Given the description of an element on the screen output the (x, y) to click on. 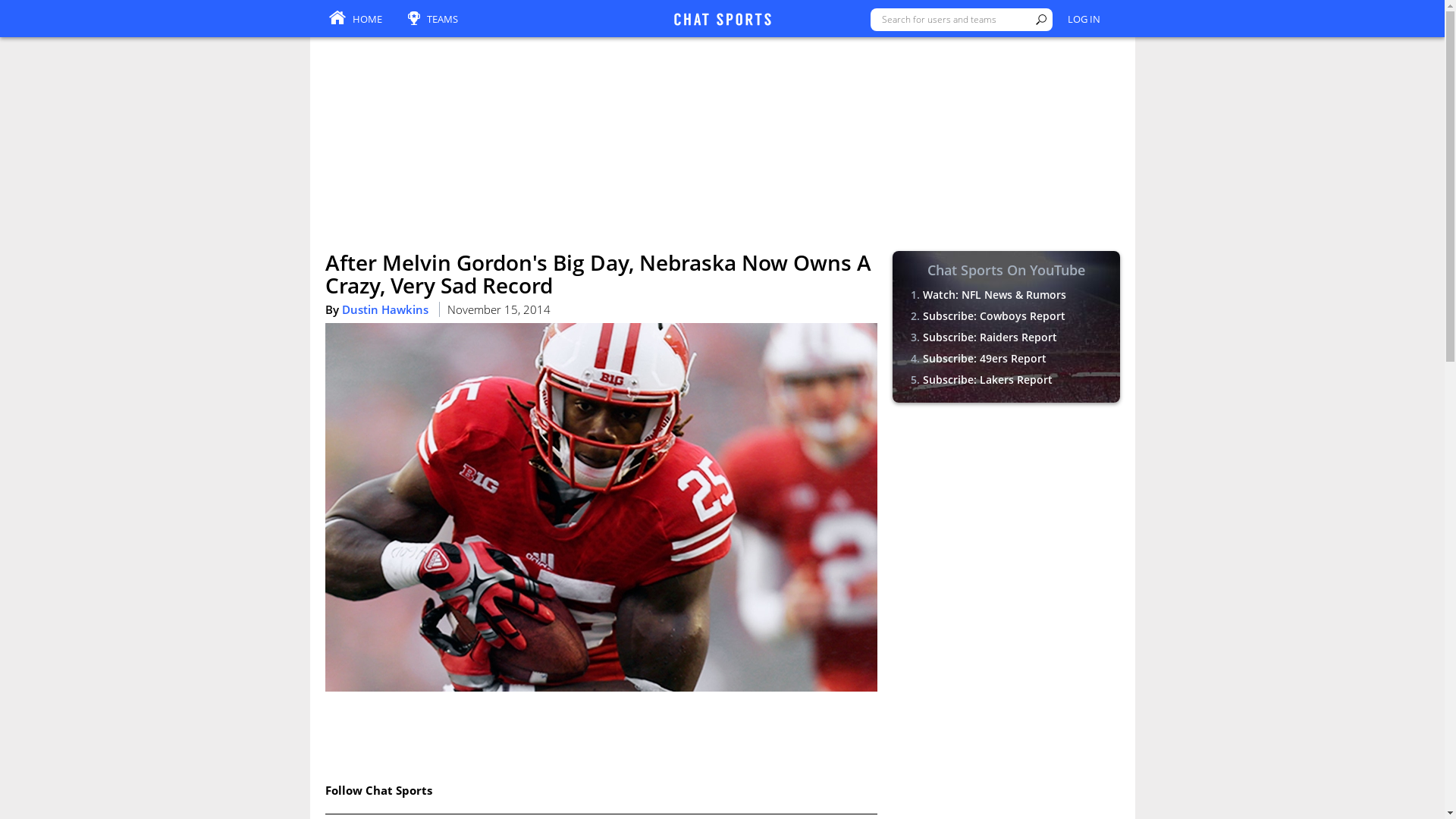
3rd party ad content (1005, 512)
Subscribe: Cowboys Report (992, 315)
sovrn-ad (721, 785)
Dustin Hawkins (384, 309)
HOME (355, 19)
Subscribe: Lakers Report (986, 379)
submit (1040, 19)
TEAMS (432, 19)
3rd party ad content (1005, 717)
3rd party ad content (600, 733)
